Given the description of an element on the screen output the (x, y) to click on. 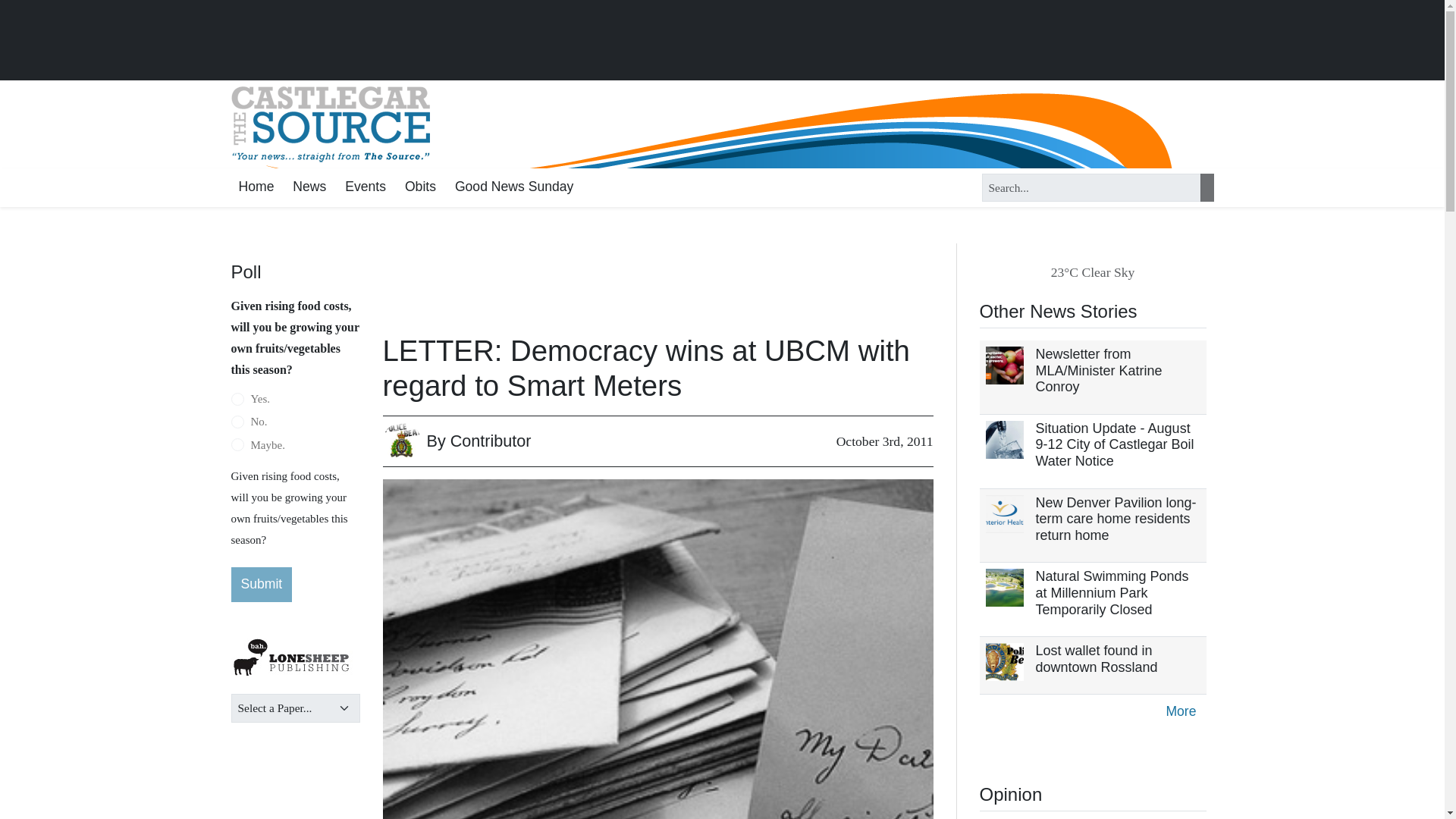
Events (365, 187)
Submit (261, 584)
Lost wallet found in downtown Rossland (1096, 658)
Obits (420, 187)
3rd party ad content (721, 41)
Natural Swimming Ponds at Millennium Park Temporarily Closed (1112, 592)
Maybe. (237, 445)
Good News Sunday (513, 187)
No. (237, 422)
